Given the description of an element on the screen output the (x, y) to click on. 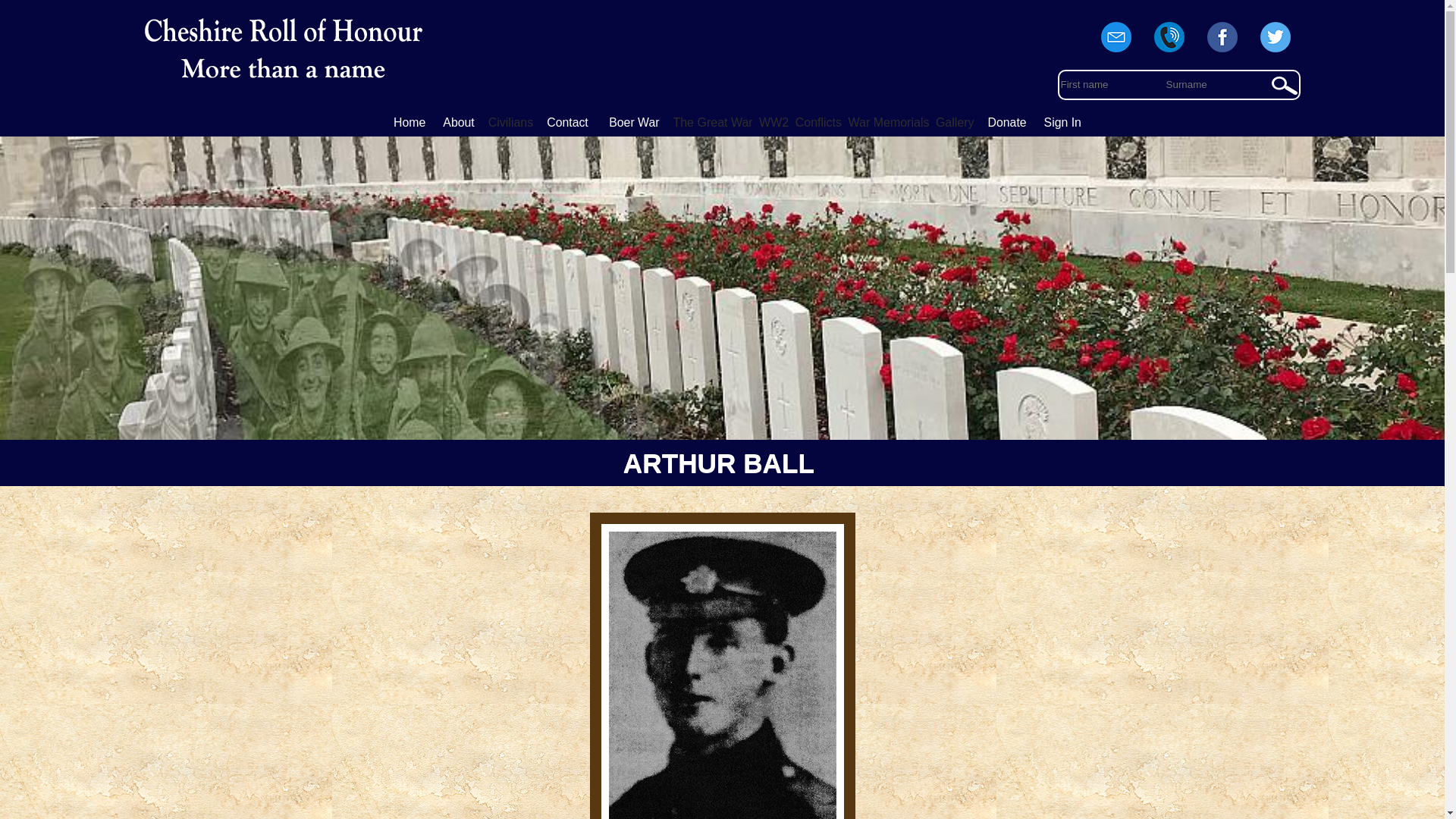
Civilians (510, 121)
Home (409, 122)
Contact (567, 122)
Donate (1006, 122)
WW2 (773, 121)
Gallery (955, 121)
About (458, 122)
Home Page (409, 122)
WW2  (773, 121)
Sign In (1061, 122)
Civilians (510, 121)
Emial Us (1115, 51)
The Great War (712, 121)
Boer War (634, 122)
Conflicts (817, 121)
